Given the description of an element on the screen output the (x, y) to click on. 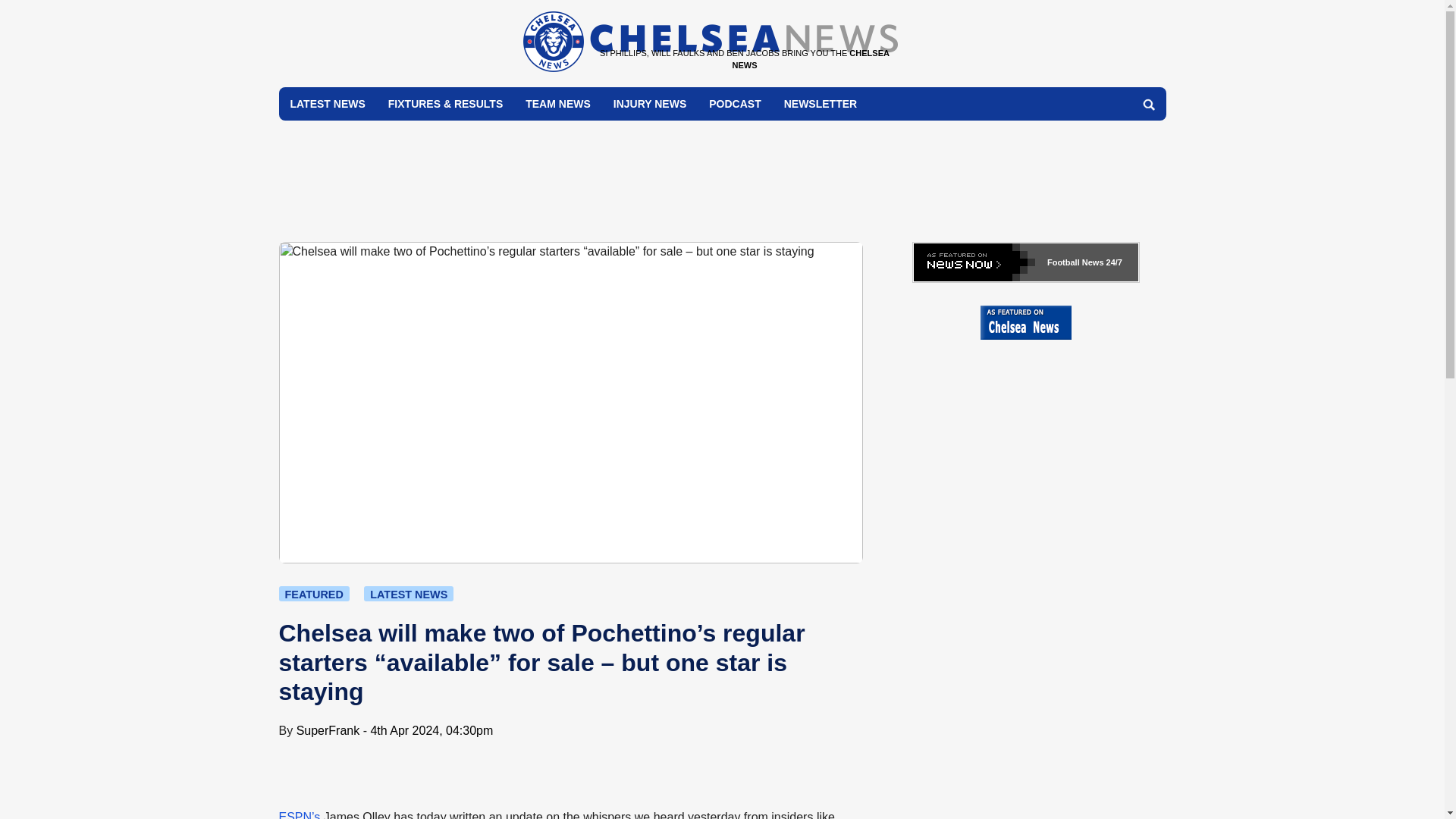
LATEST NEWS (328, 103)
NEWSLETTER (820, 103)
LATEST NEWS (408, 592)
TEAM NEWS (557, 103)
FEATURED (314, 592)
Latest Latest News News (408, 592)
Chelsea News (710, 67)
INJURY NEWS (649, 103)
PODCAST (734, 103)
